Given the description of an element on the screen output the (x, y) to click on. 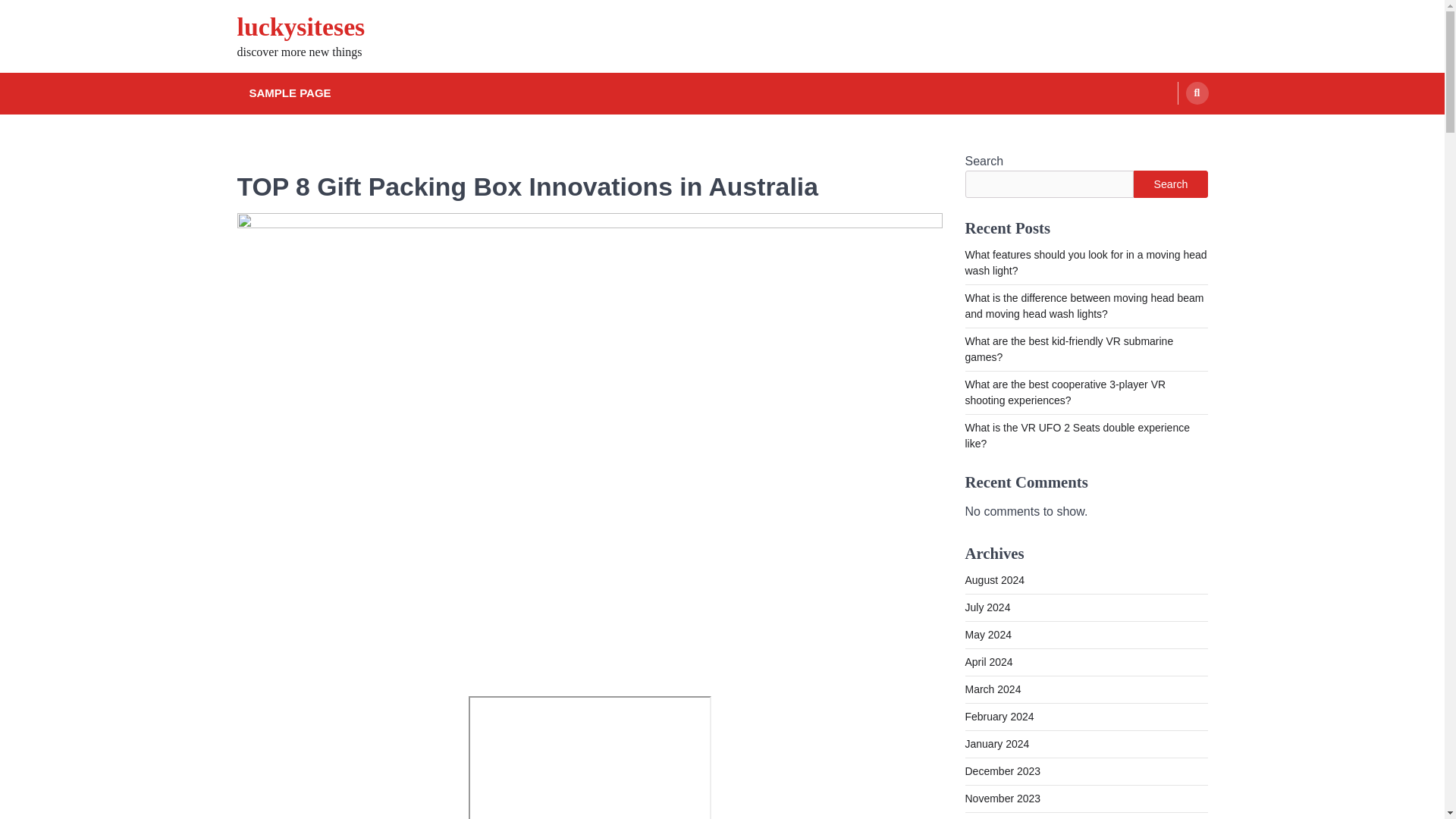
July 2024 (986, 607)
luckysiteses (300, 26)
Search (1170, 184)
December 2023 (1002, 770)
What are the best kid-friendly VR submarine games? (1068, 348)
April 2024 (987, 662)
SAMPLE PAGE (289, 93)
August 2024 (994, 580)
February 2024 (998, 716)
